Given the description of an element on the screen output the (x, y) to click on. 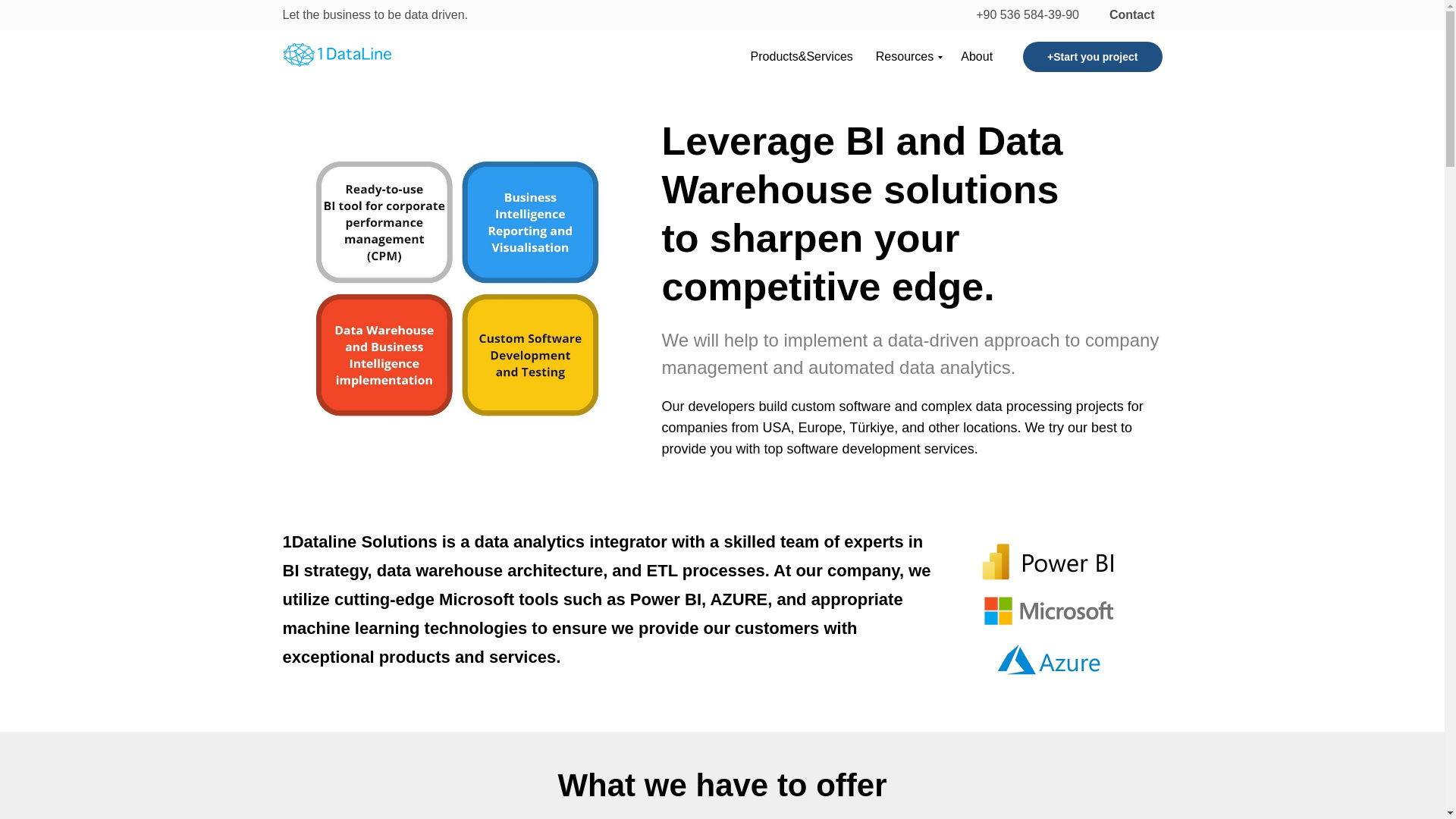
+Start you project Element type: text (1091, 56)
About Element type: text (976, 56)
Contact Element type: text (1131, 14)
Let the business to be data driven. Element type: text (386, 14)
Resources Element type: text (906, 56)
Products&Services Element type: text (801, 56)
